Given the description of an element on the screen output the (x, y) to click on. 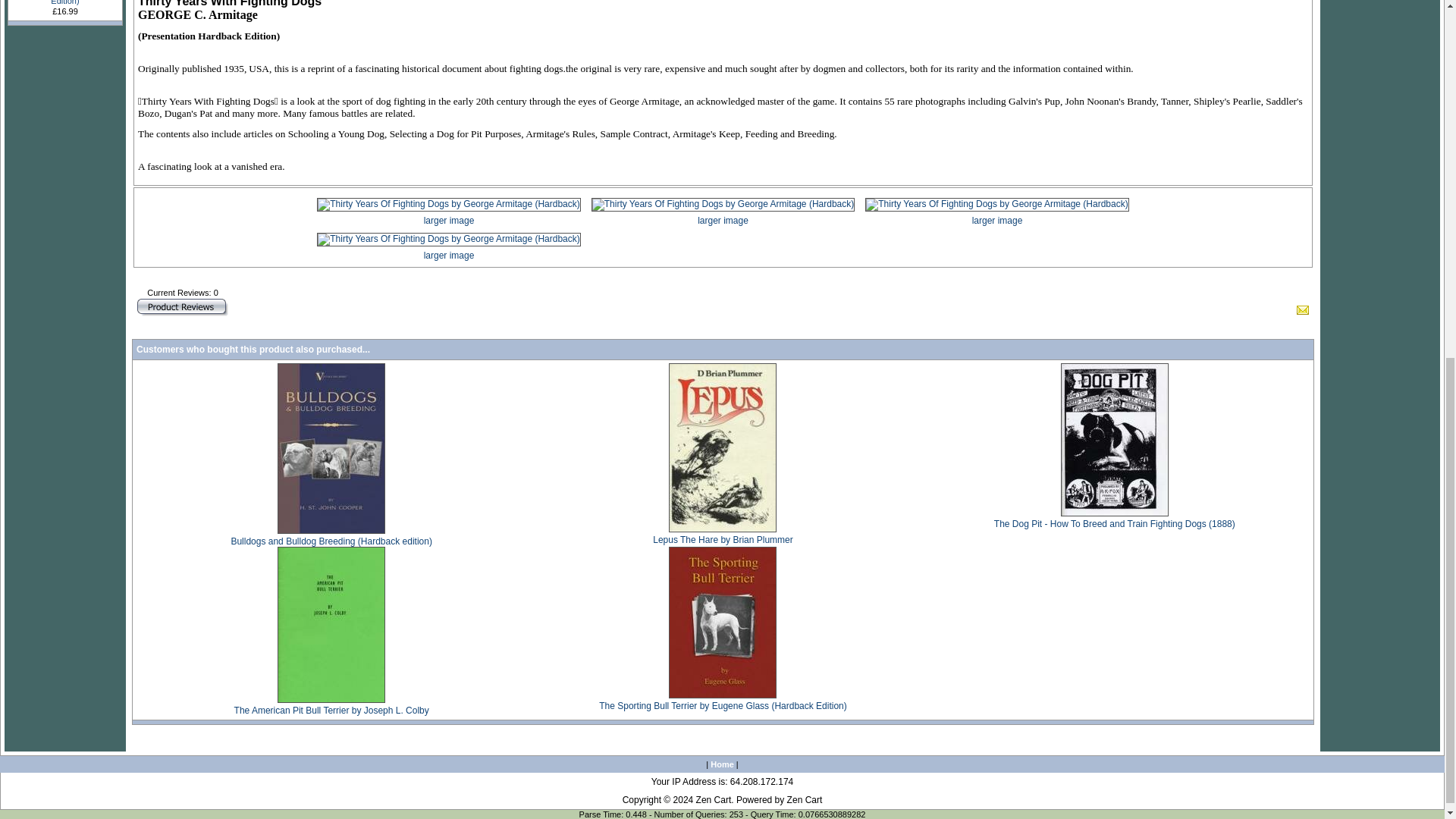
larger image (448, 212)
 Reviews  (182, 307)
larger image (723, 212)
larger image (448, 247)
 Tell a Friend  (1302, 309)
larger image (996, 212)
